Given the description of an element on the screen output the (x, y) to click on. 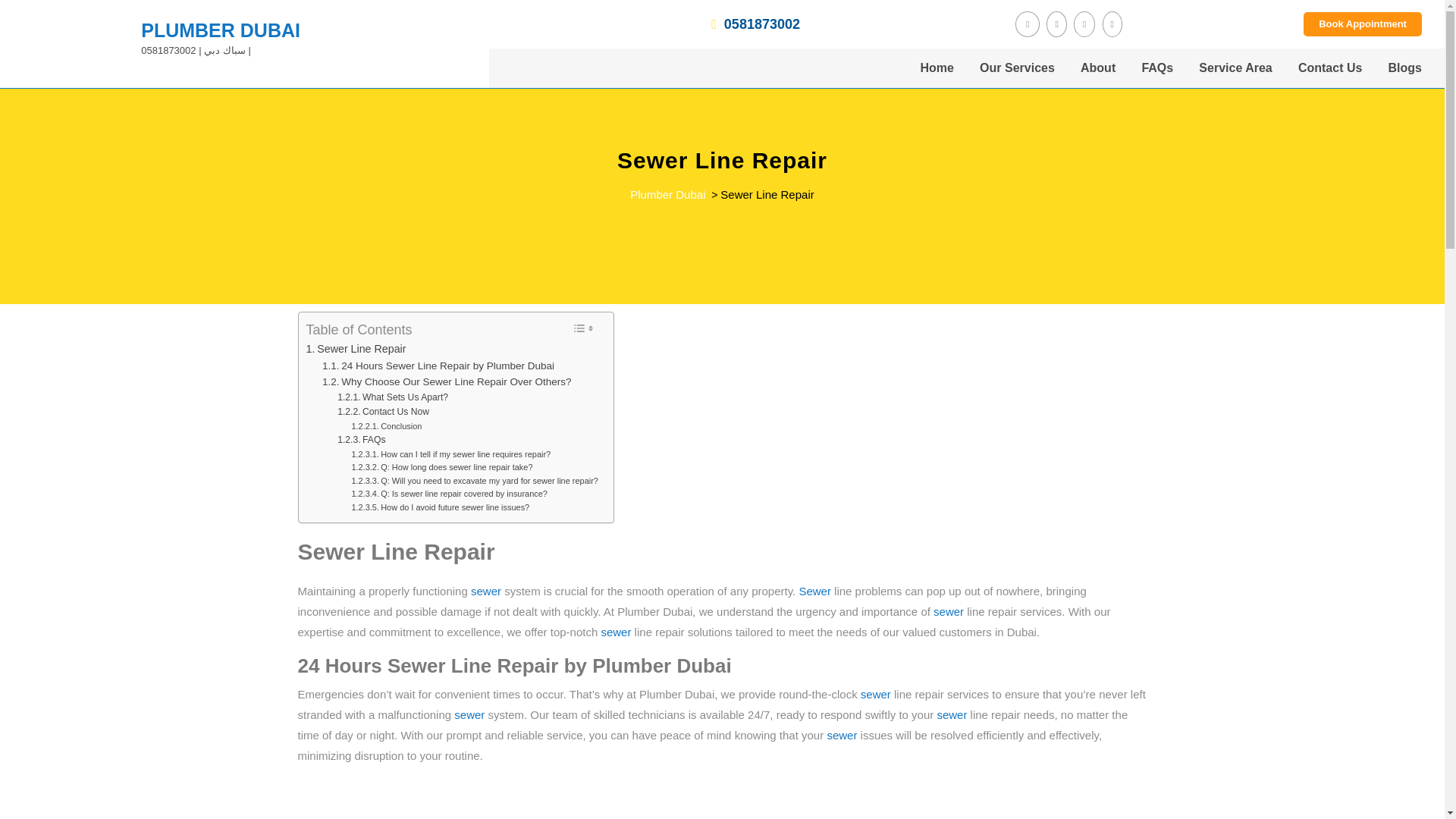
How can I tell if my sewer line requires repair? (450, 454)
What Sets Us Apart? (392, 397)
Book Appointment (1362, 24)
0581873002 (655, 24)
Home (935, 67)
Q: Is sewer line repair covered by insurance? (448, 494)
Q: How long does sewer line repair take? (441, 468)
Conclusion (386, 427)
Q: Will you need to excavate my yard for sewer line repair? (473, 481)
PLUMBER DUBAI (220, 29)
